Given the description of an element on the screen output the (x, y) to click on. 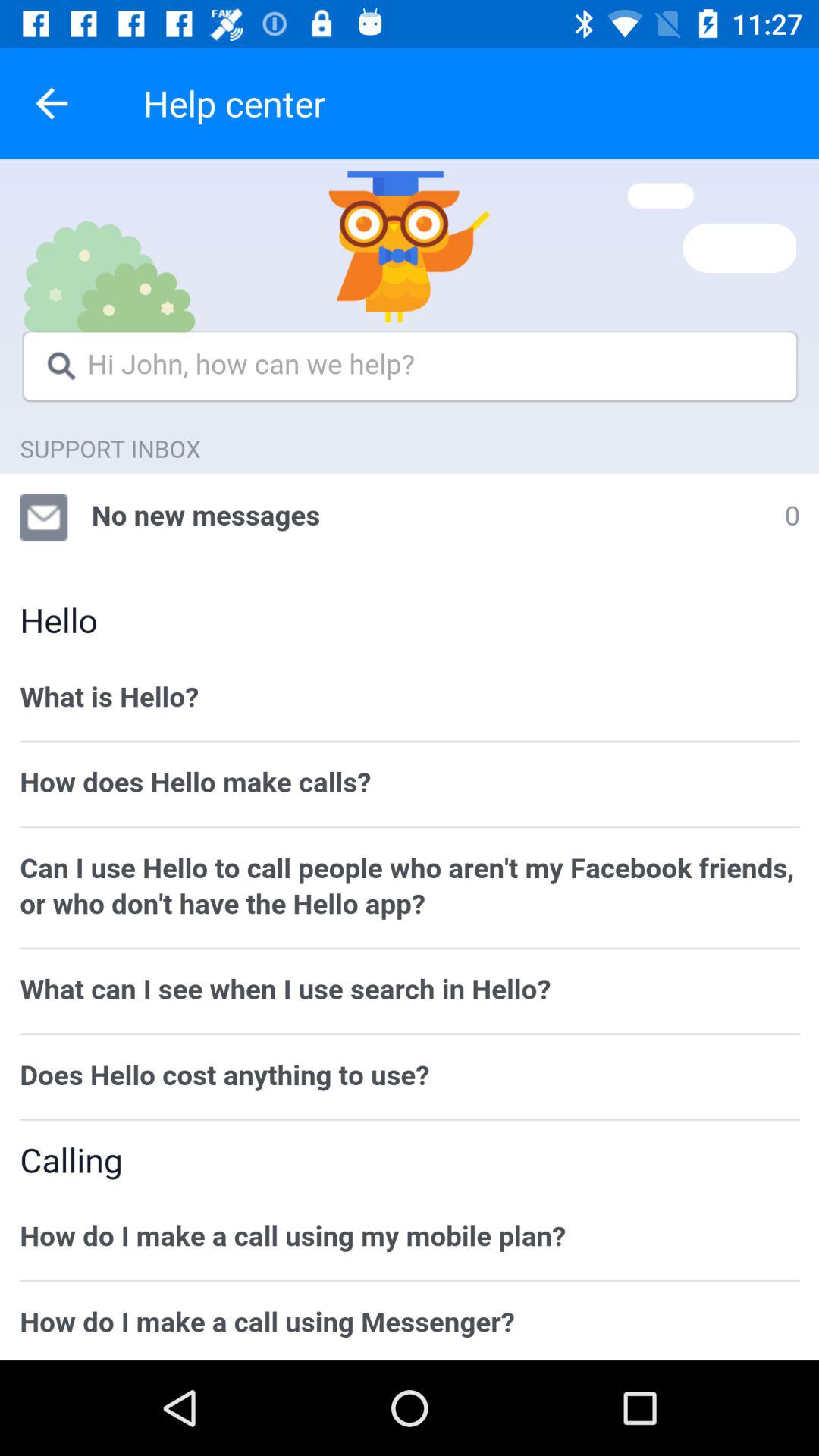
view help center page (409, 759)
